Given the description of an element on the screen output the (x, y) to click on. 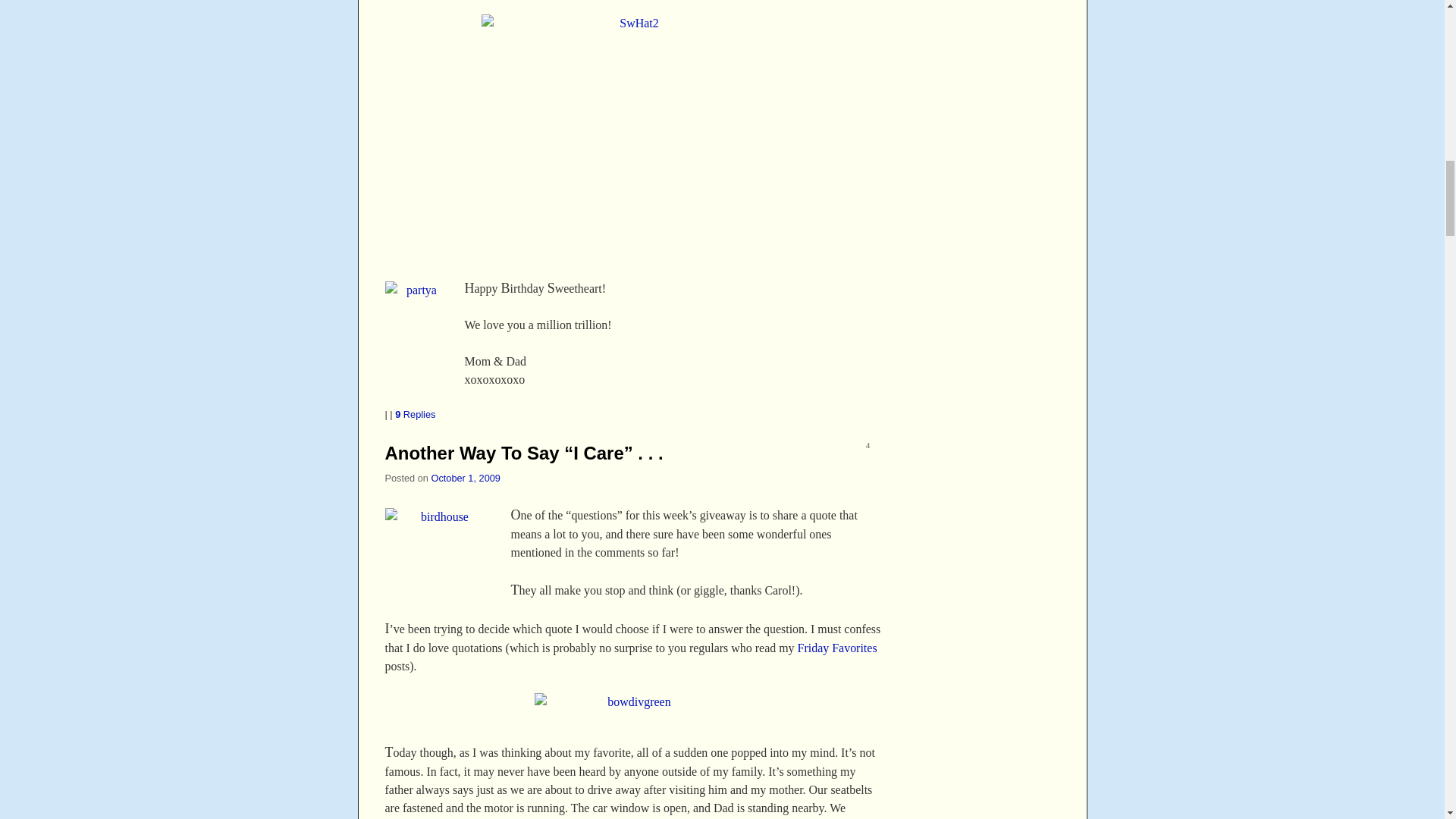
9 Replies (414, 414)
October 1, 2009 (464, 478)
12:03 am (464, 478)
SwHat2 (632, 137)
Friday Favorites (837, 647)
4 (867, 447)
